Given the description of an element on the screen output the (x, y) to click on. 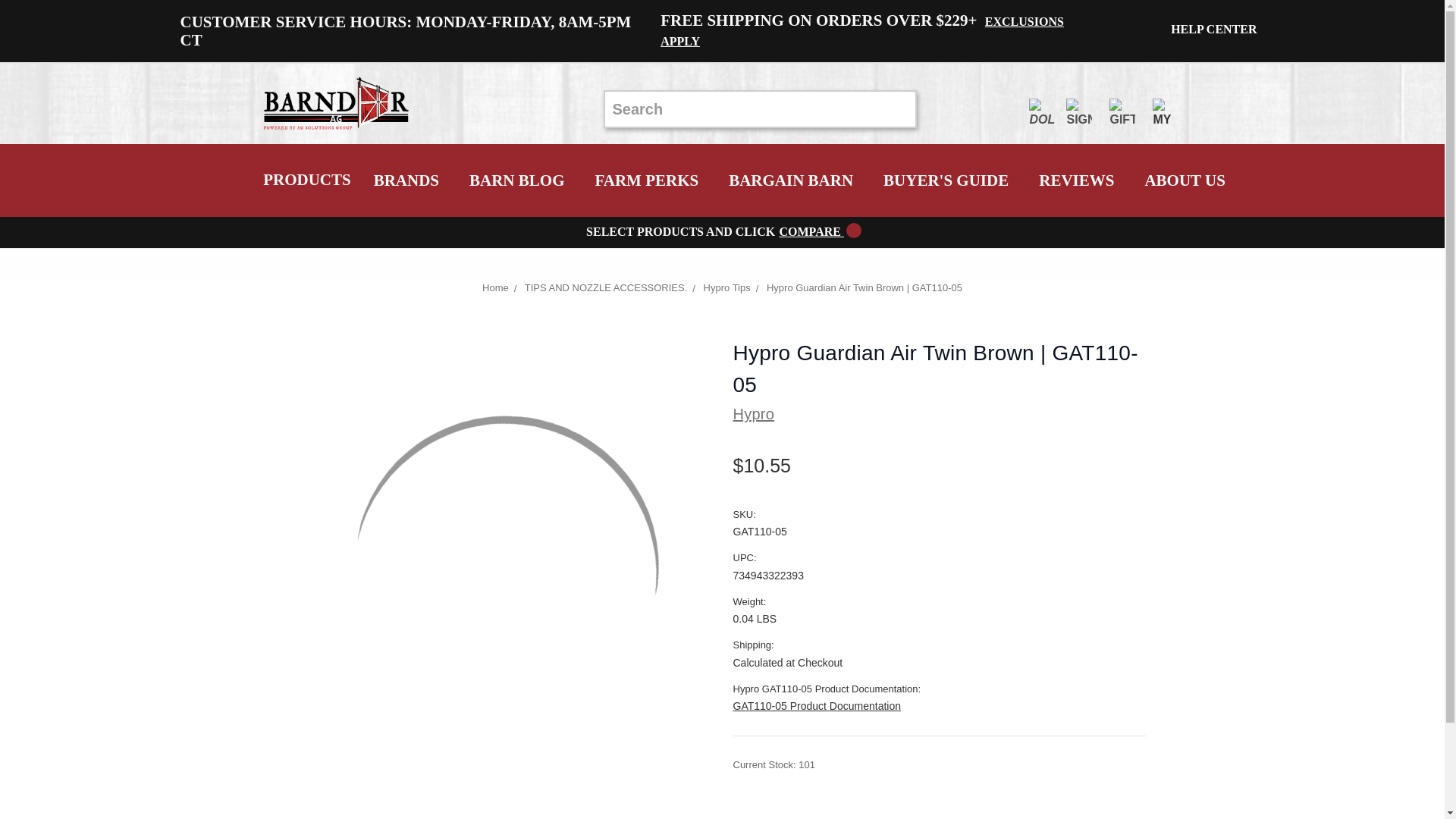
BARNDOOR AG (337, 103)
EXCLUSIONS APPLY (862, 31)
